Given the description of an element on the screen output the (x, y) to click on. 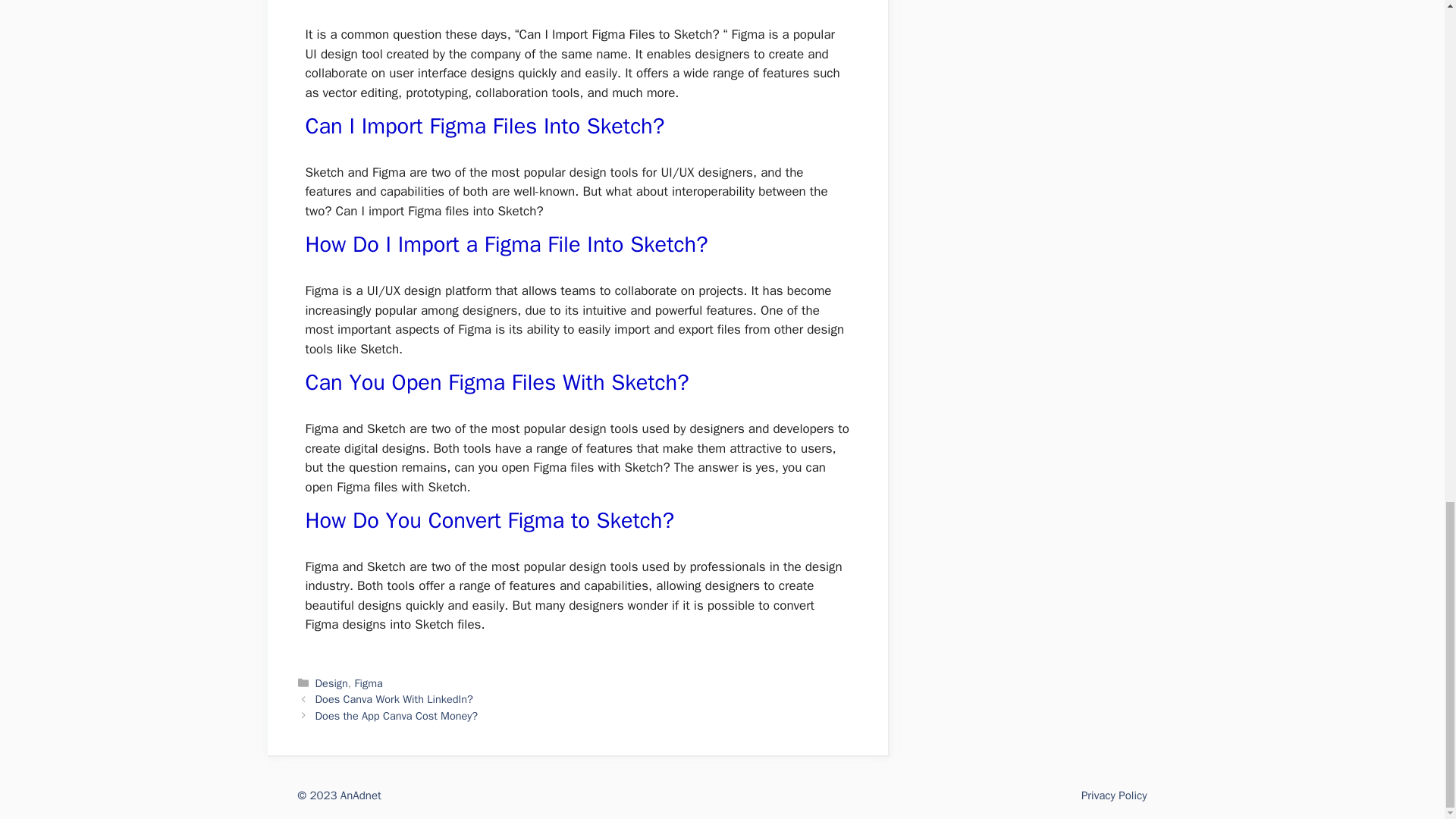
Can I Import Figma Files Into Sketch? (483, 126)
How Do I Import a Figma File Into Sketch? (505, 244)
How Do You Convert Figma to Sketch? (489, 520)
Figma (368, 683)
Does the App Canva Cost Money? (397, 715)
Privacy Policy (1114, 795)
Design (331, 683)
Can You Open Figma Files With Sketch? (496, 382)
Does Canva Work With LinkedIn? (394, 698)
